Given the description of an element on the screen output the (x, y) to click on. 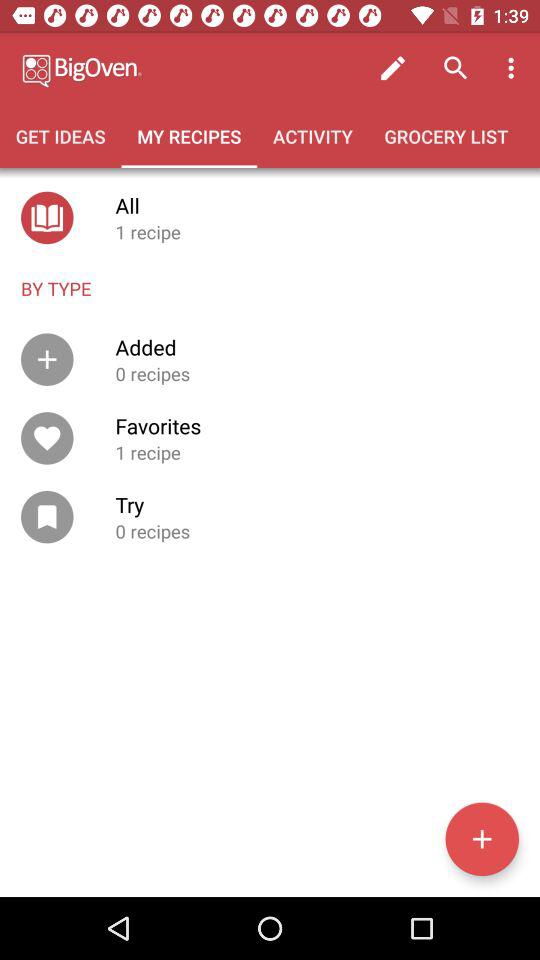
add new recipe (482, 839)
